Given the description of an element on the screen output the (x, y) to click on. 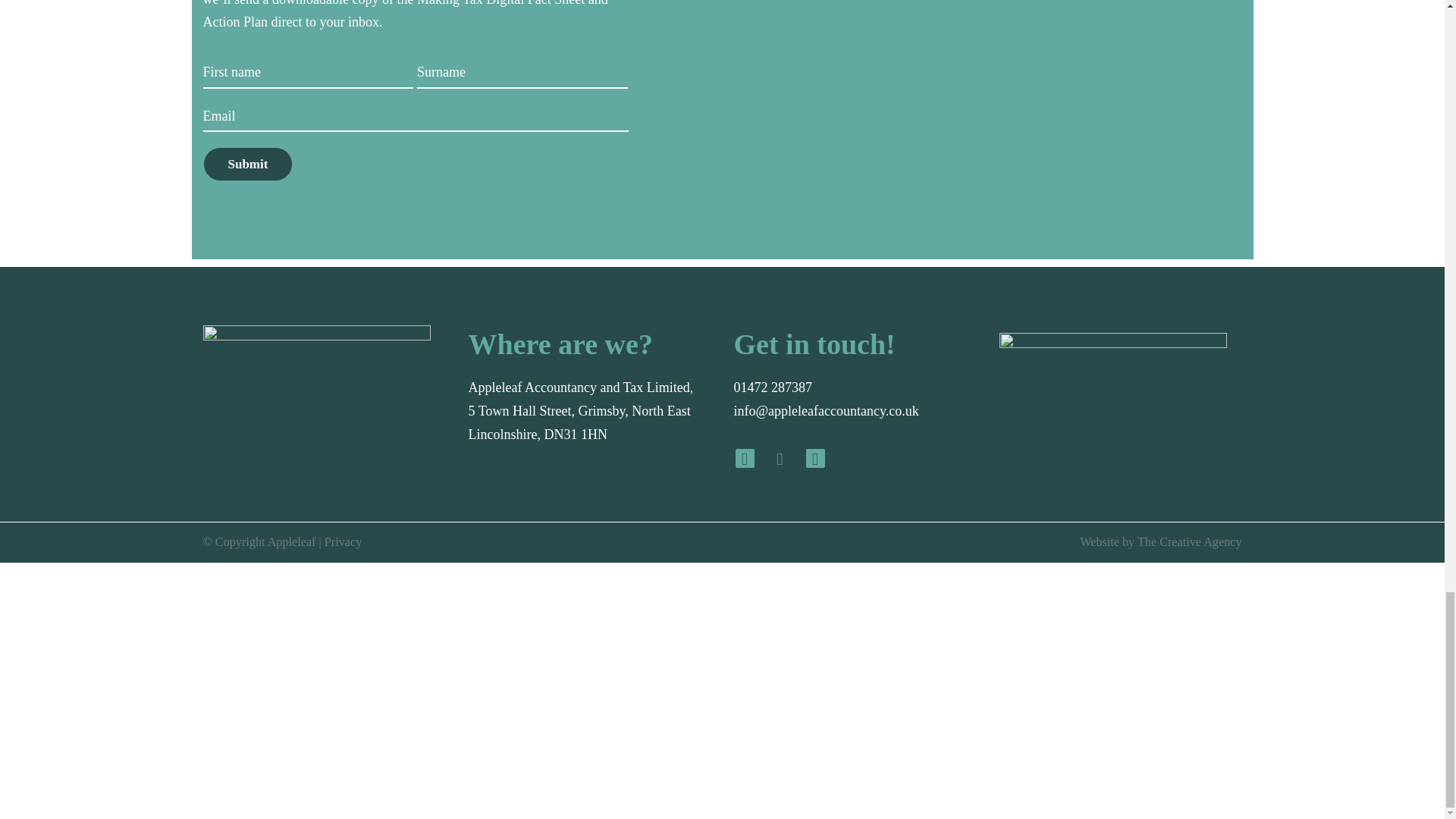
Submit (248, 163)
Facebook (744, 457)
image3 (987, 98)
